Given the description of an element on the screen output the (x, y) to click on. 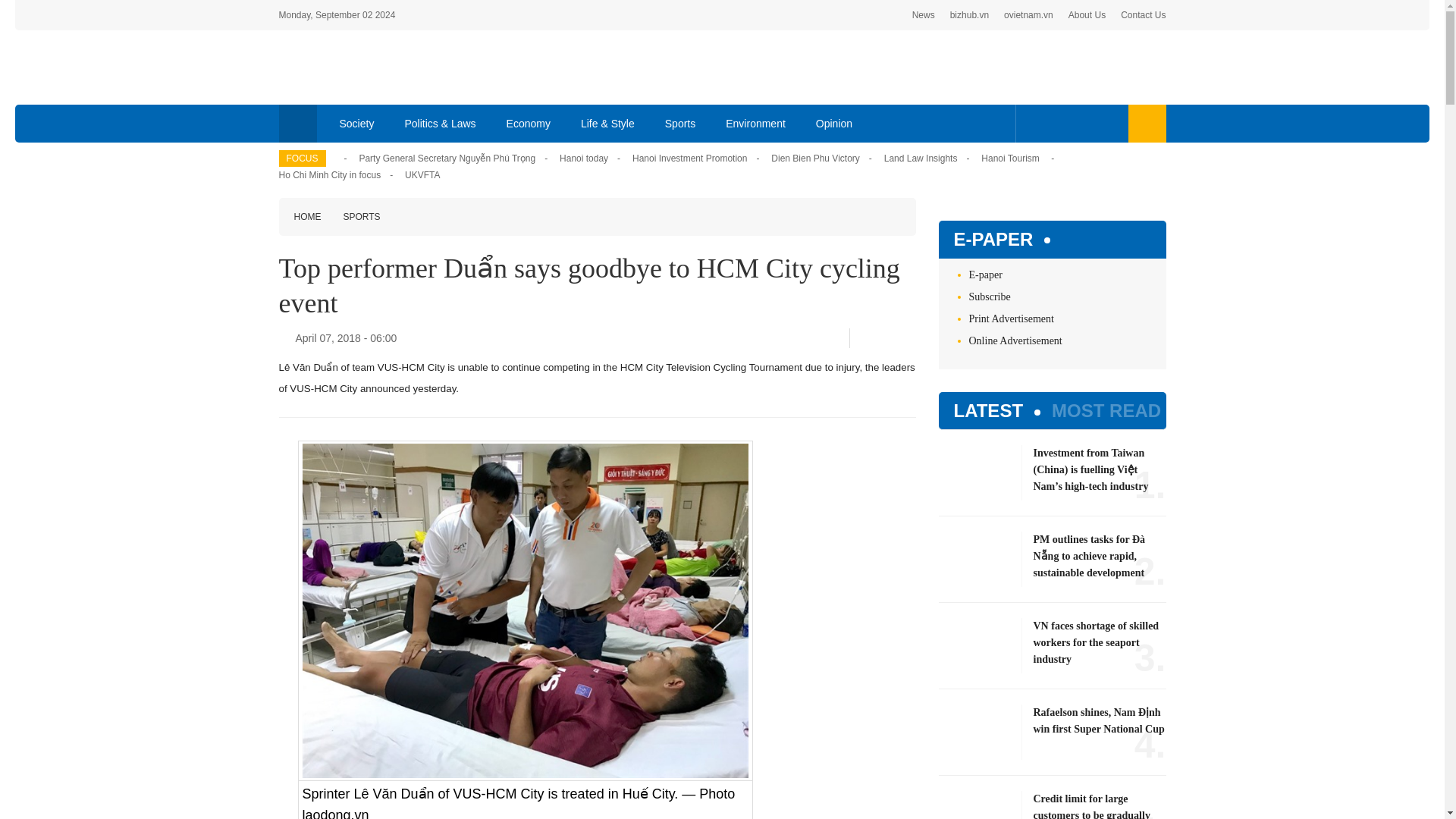
Twitter (885, 337)
ovietnam.vn (1028, 15)
Environment (755, 123)
Instagram (1106, 123)
Twitter (1056, 122)
Contact Us (1143, 15)
Email (909, 338)
Opinion (833, 123)
Youtube (1081, 122)
News (923, 15)
